Given the description of an element on the screen output the (x, y) to click on. 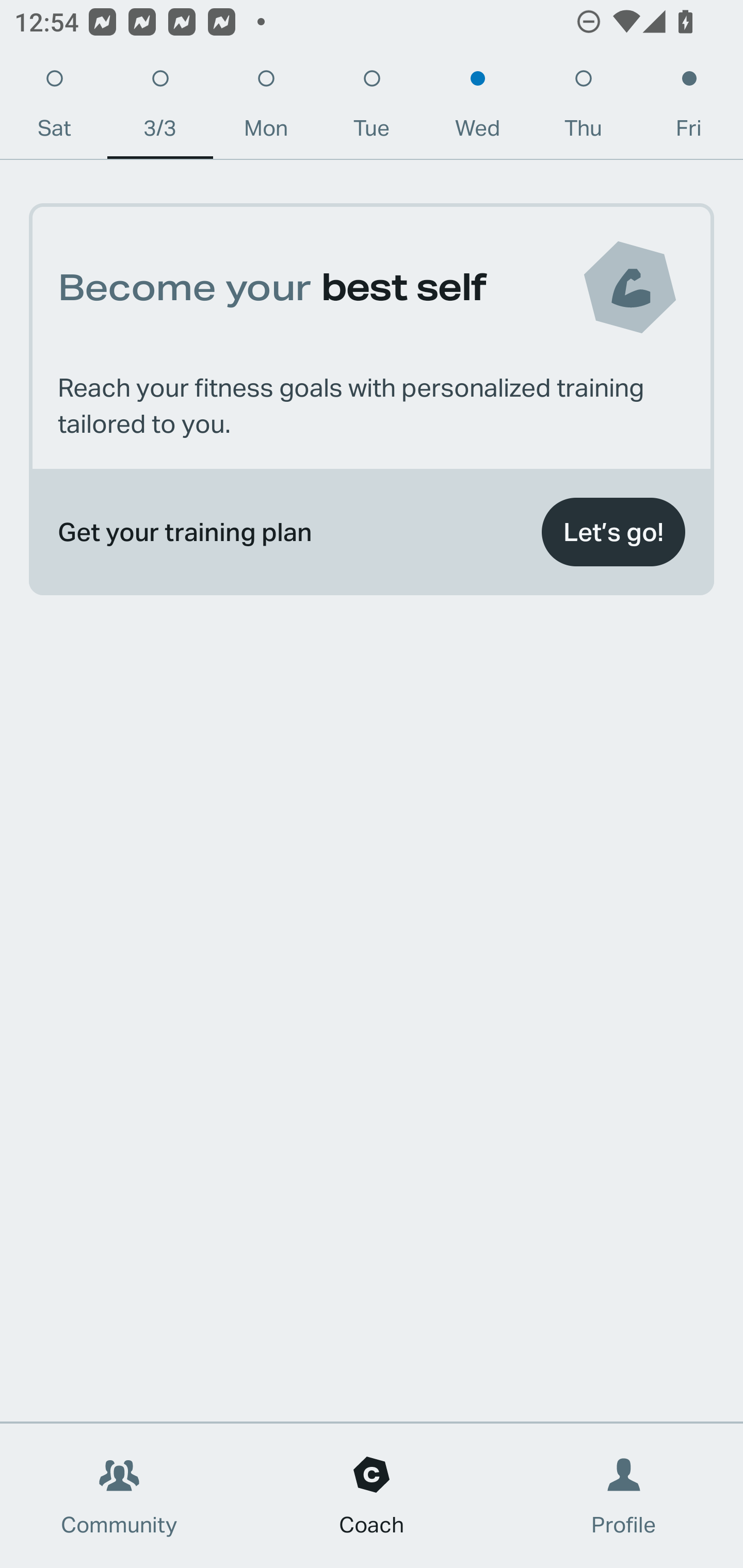
Sat (53, 108)
3/3 (159, 108)
Mon (265, 108)
Tue (371, 108)
Wed (477, 108)
Thu (583, 108)
Fri (689, 108)
Let’s go! (613, 532)
Community (119, 1495)
Profile (624, 1495)
